Given the description of an element on the screen output the (x, y) to click on. 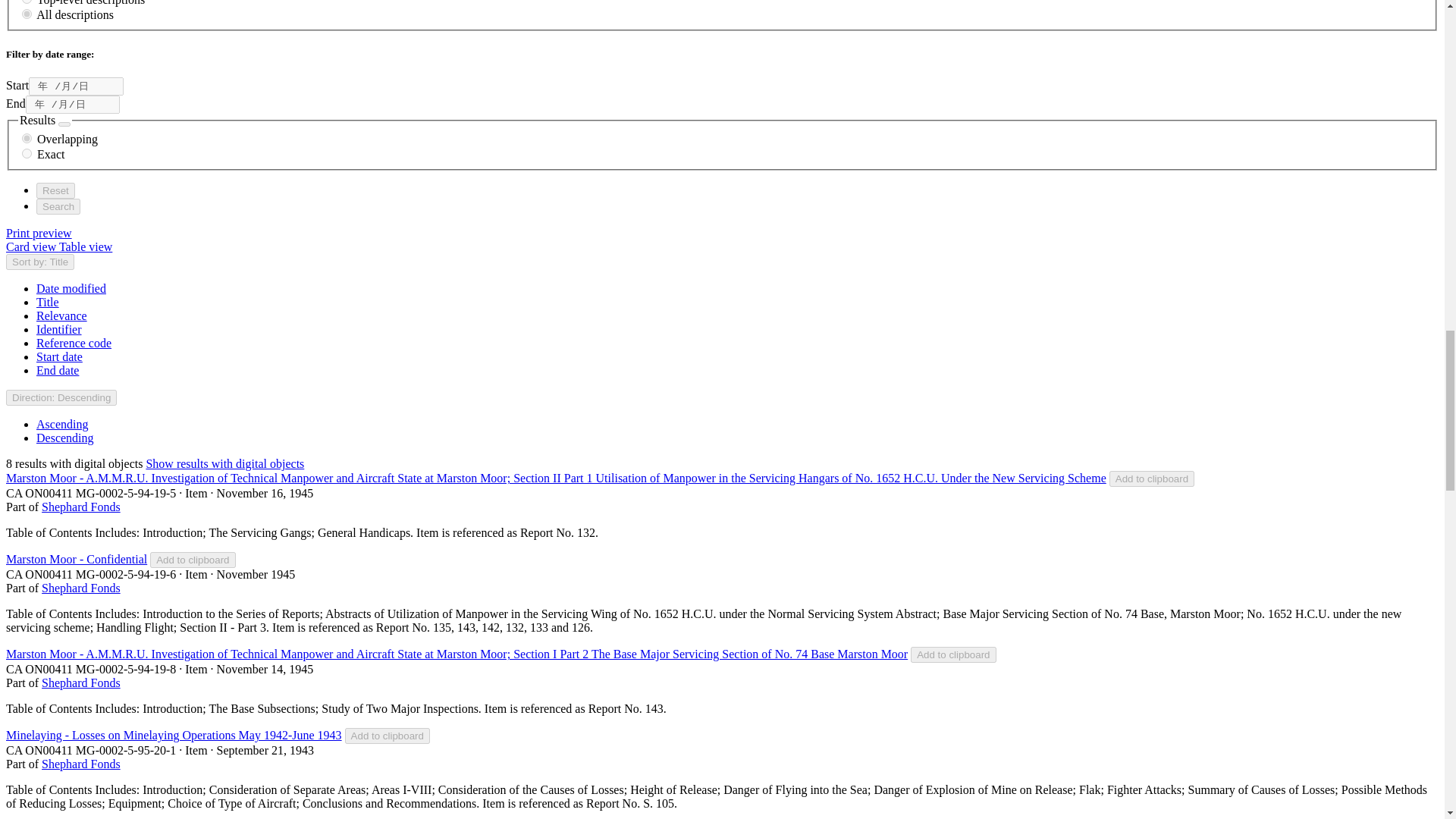
1 (26, 2)
exact (26, 153)
inclusive (26, 138)
Reset (55, 190)
Search (58, 206)
0 (26, 13)
